Given the description of an element on the screen output the (x, y) to click on. 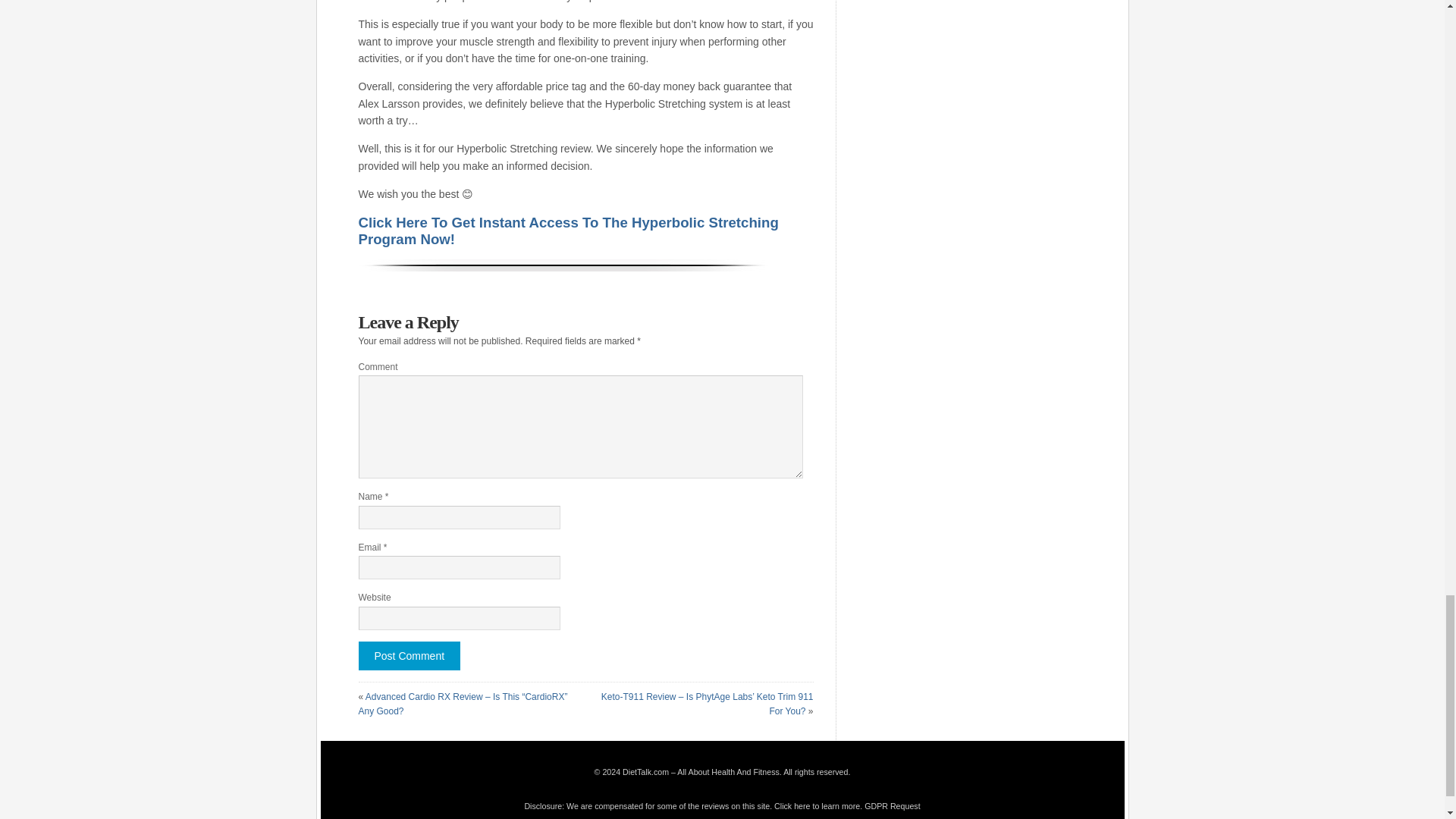
Post Comment (409, 655)
Click here (791, 805)
Post Comment (409, 655)
